Given the description of an element on the screen output the (x, y) to click on. 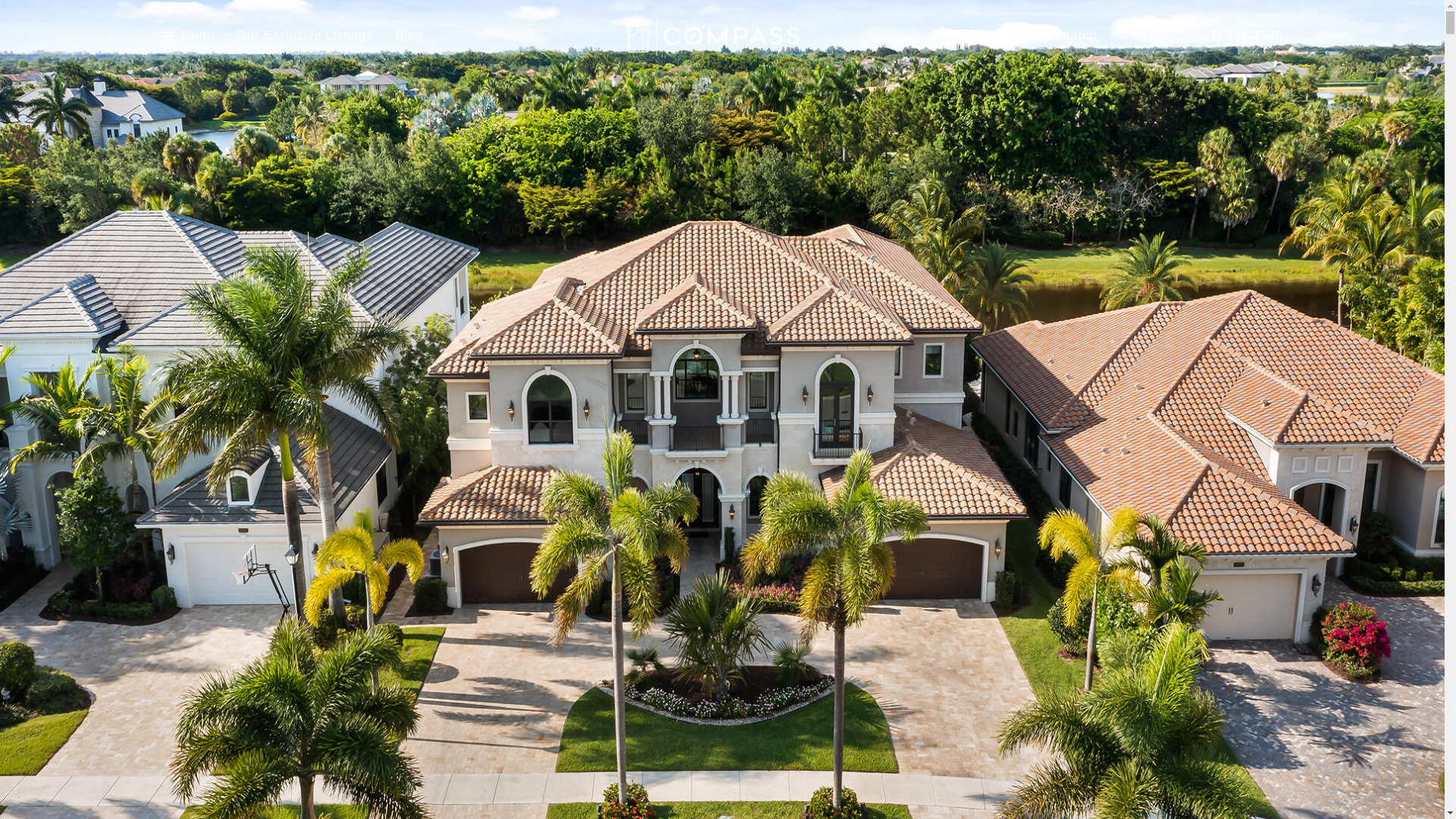
Contact (1143, 35)
Menu (187, 35)
Menu (197, 35)
Blog (409, 35)
Our Exclusive Listings (304, 35)
Home Search (1055, 35)
